Given the description of an element on the screen output the (x, y) to click on. 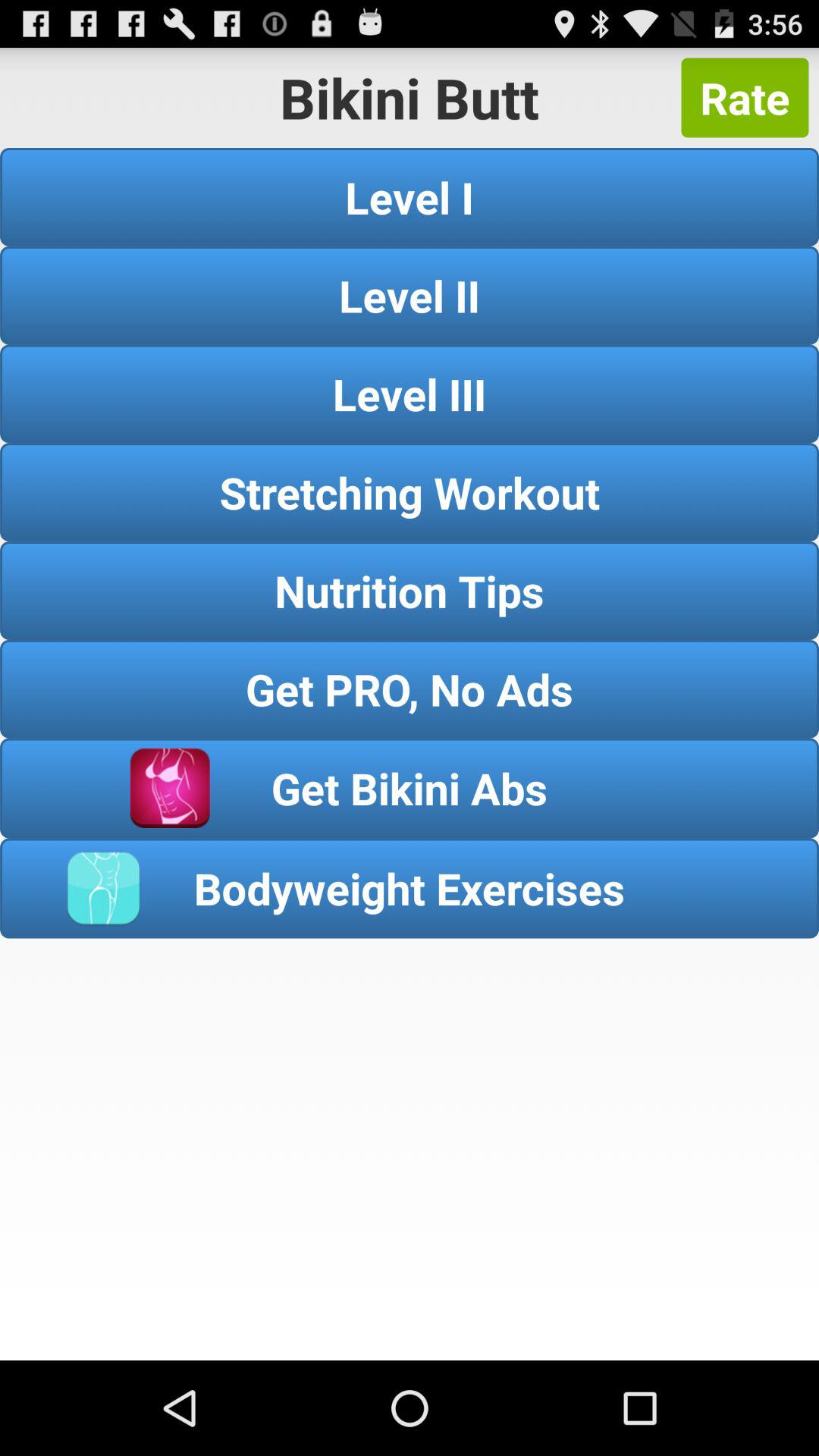
scroll to the level ii (409, 295)
